Given the description of an element on the screen output the (x, y) to click on. 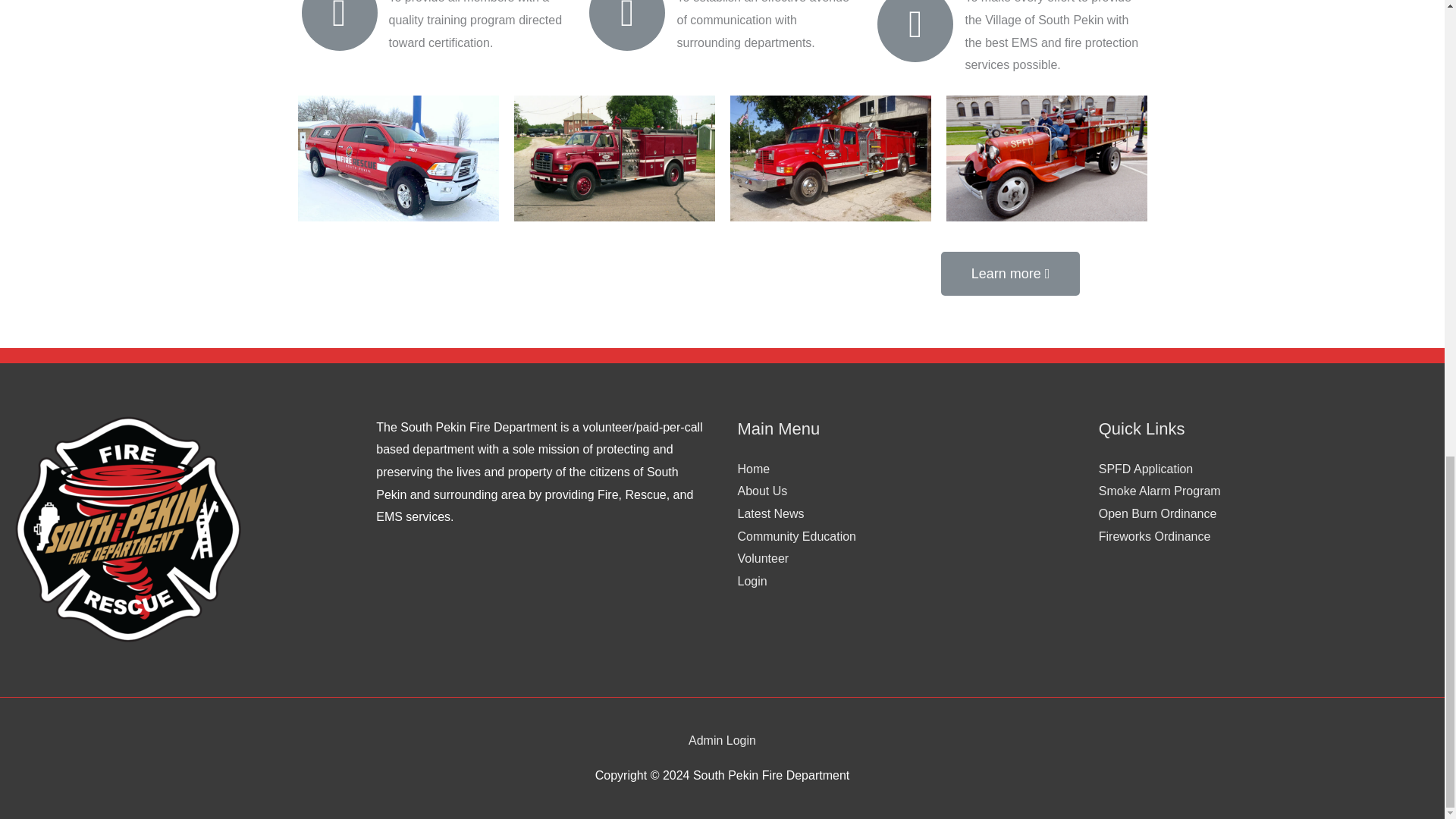
Open Burn Ordinance (1158, 513)
Learn more (1010, 273)
Community Education (796, 535)
Smoke Alarm Program (1160, 490)
Fireworks Ordinance (1155, 535)
Latest News (769, 513)
About Us (761, 490)
SPFD Application (1146, 468)
Admin Login (721, 739)
Volunteer (762, 558)
Login (751, 581)
Home (753, 468)
